Given the description of an element on the screen output the (x, y) to click on. 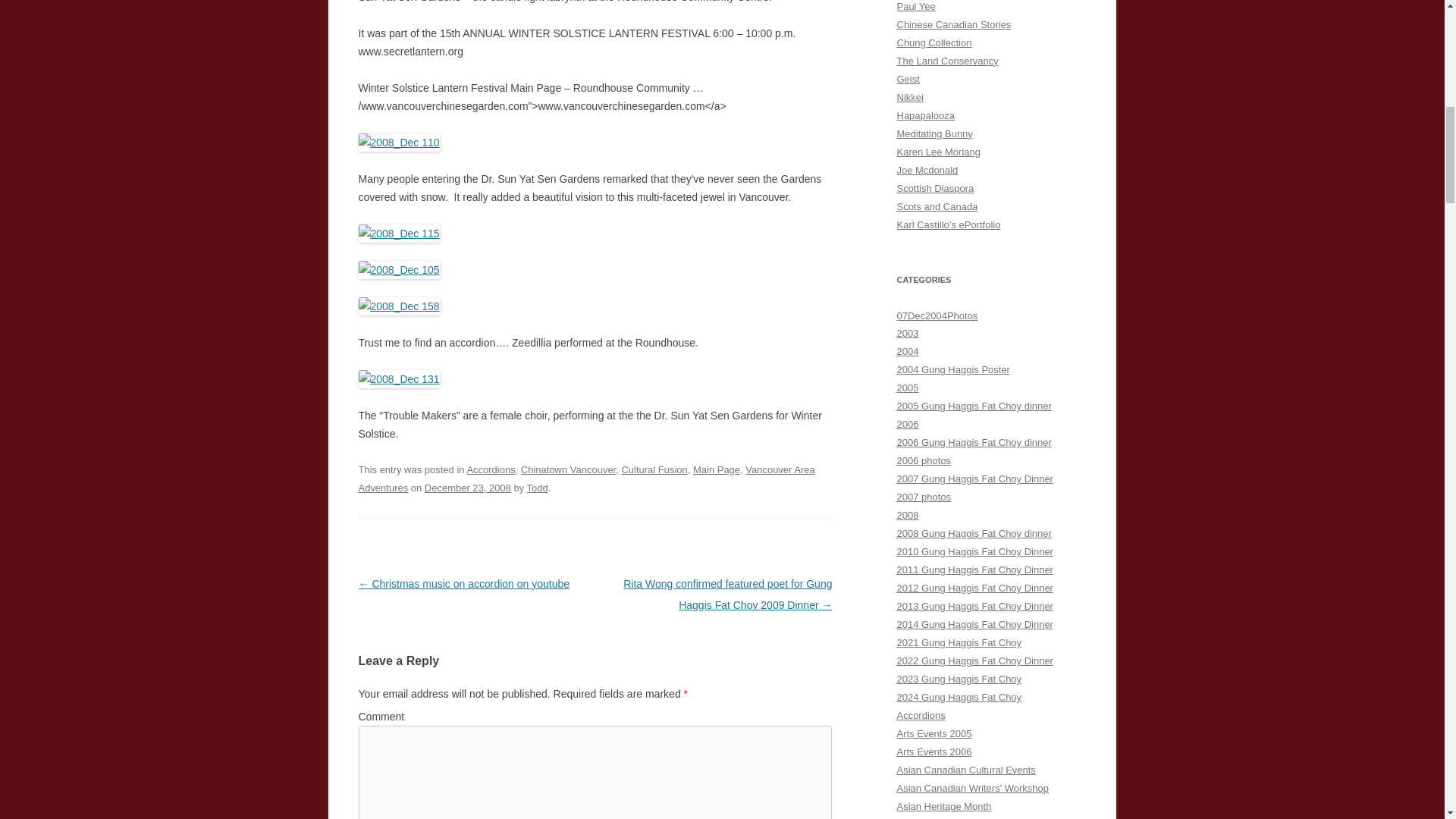
Accordions (490, 469)
View all posts by Todd (537, 487)
Vancouver Area Adventures (585, 478)
Main Page (716, 469)
Paul Yee (915, 6)
Todd (537, 487)
December 23, 2008 (468, 487)
12:30 AM (468, 487)
Chinatown Vancouver (568, 469)
Chinese Canadian Stories (953, 24)
